Given the description of an element on the screen output the (x, y) to click on. 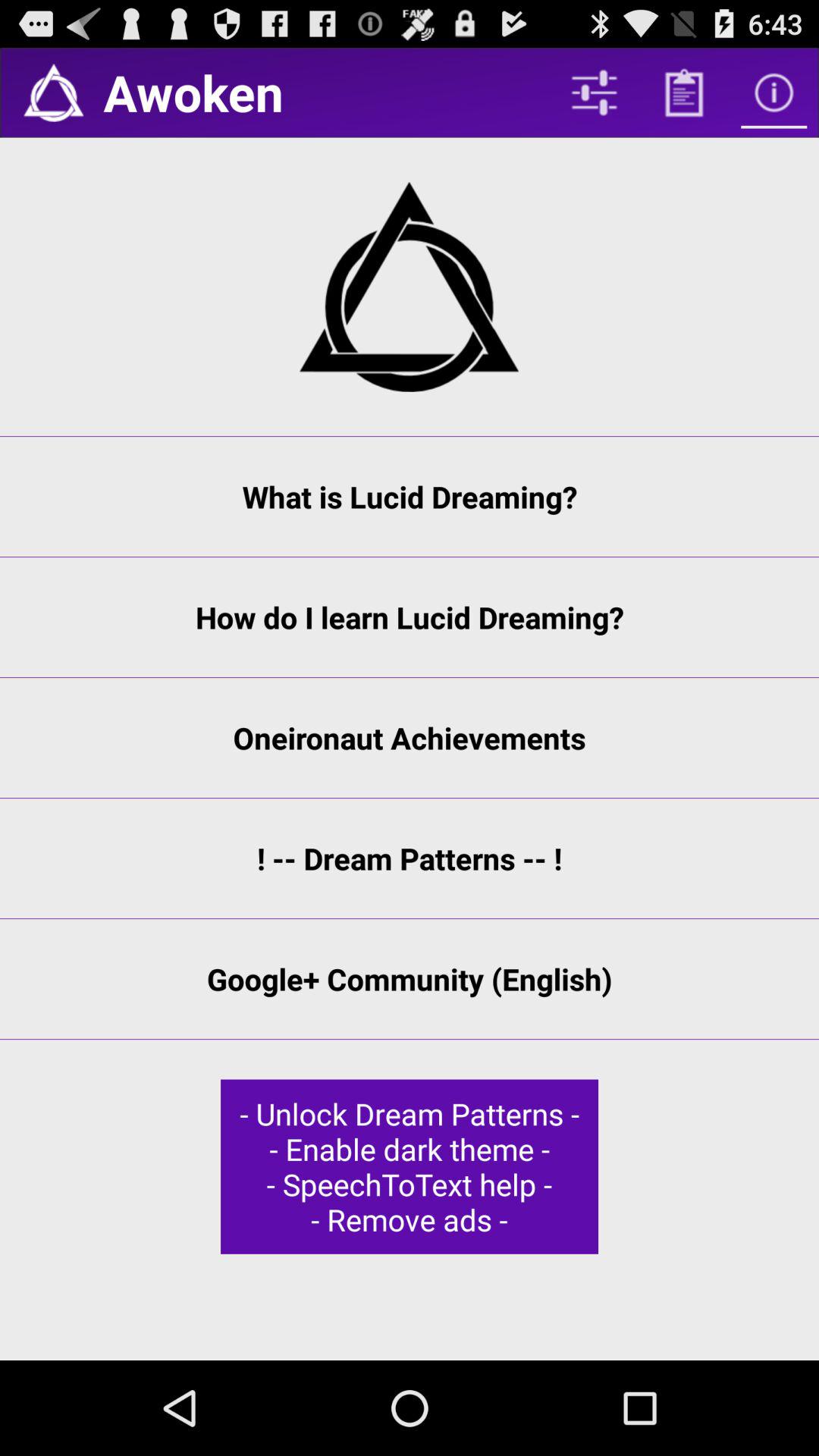
swipe until the google+ community (english) item (409, 979)
